Given the description of an element on the screen output the (x, y) to click on. 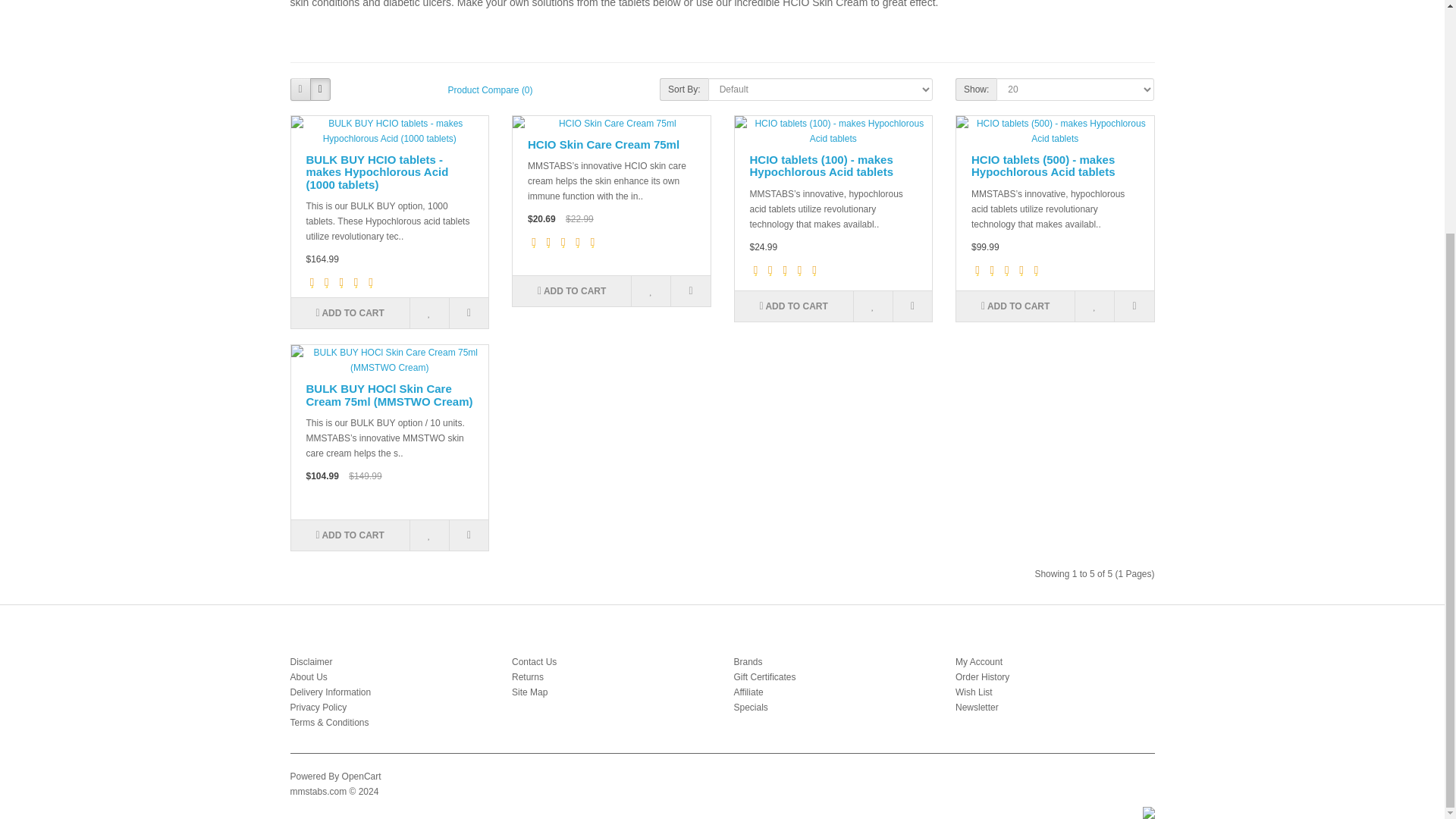
ADD TO CART (350, 313)
HCIO Skin Care Cream 75ml (611, 123)
ADD TO CART (571, 291)
HCIO Skin Care Cream 75ml (603, 144)
